Given the description of an element on the screen output the (x, y) to click on. 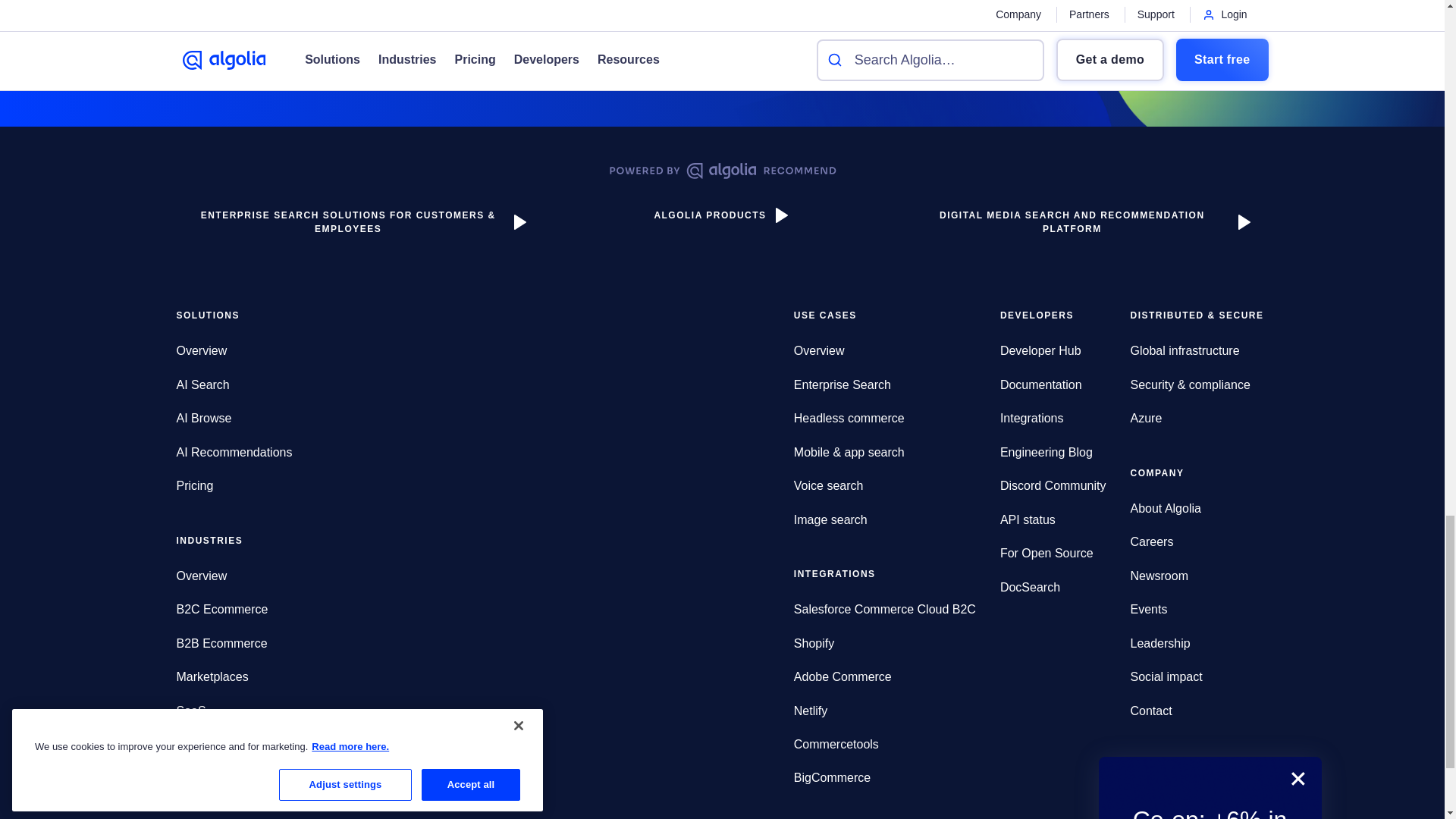
Facebook (1198, 801)
Instagram (1227, 801)
Twitter (1169, 801)
YouTube (1256, 801)
LinkedIn (1141, 801)
